Given the description of an element on the screen output the (x, y) to click on. 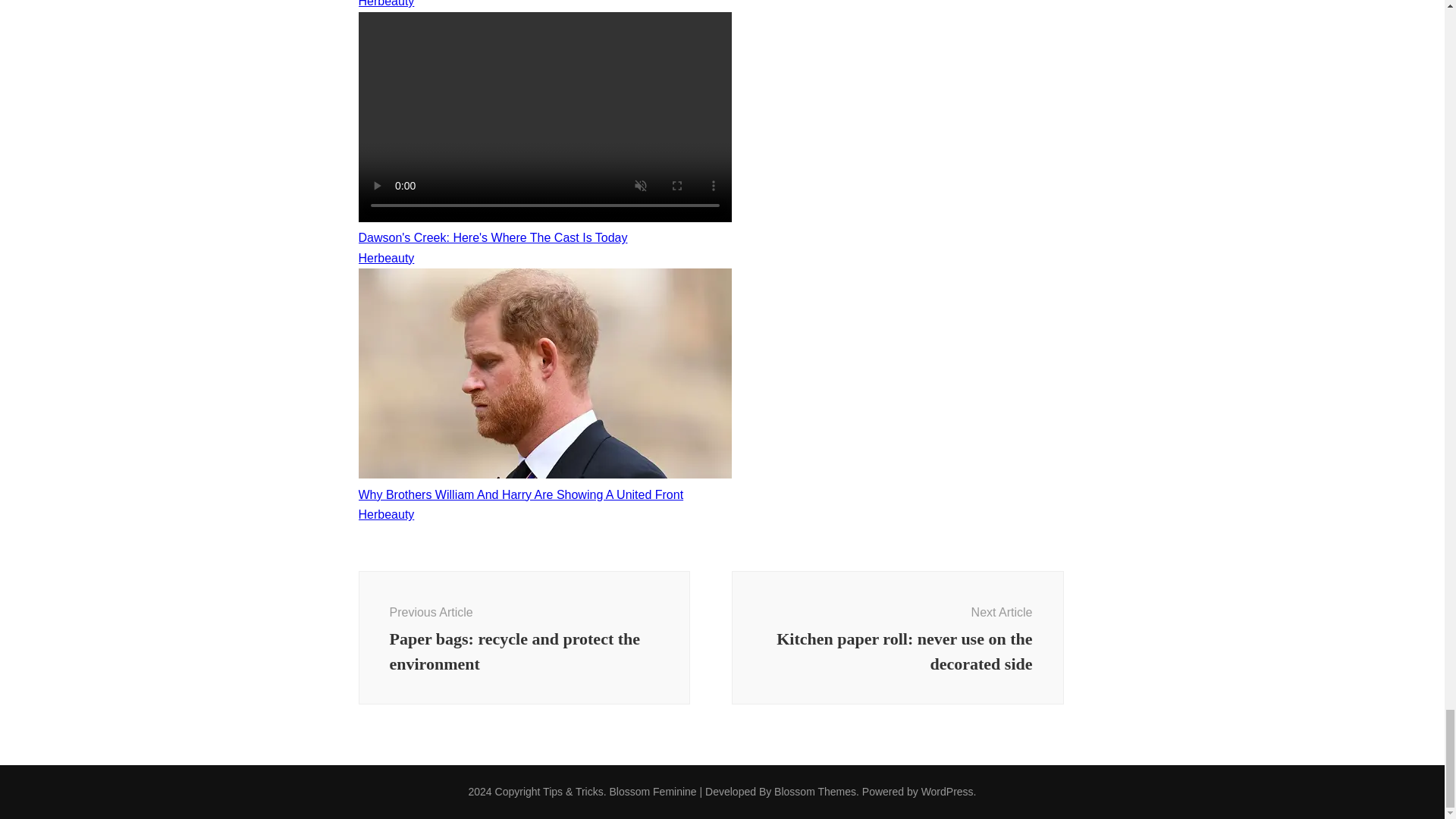
WordPress (947, 791)
Blossom Themes (815, 791)
